Given the description of an element on the screen output the (x, y) to click on. 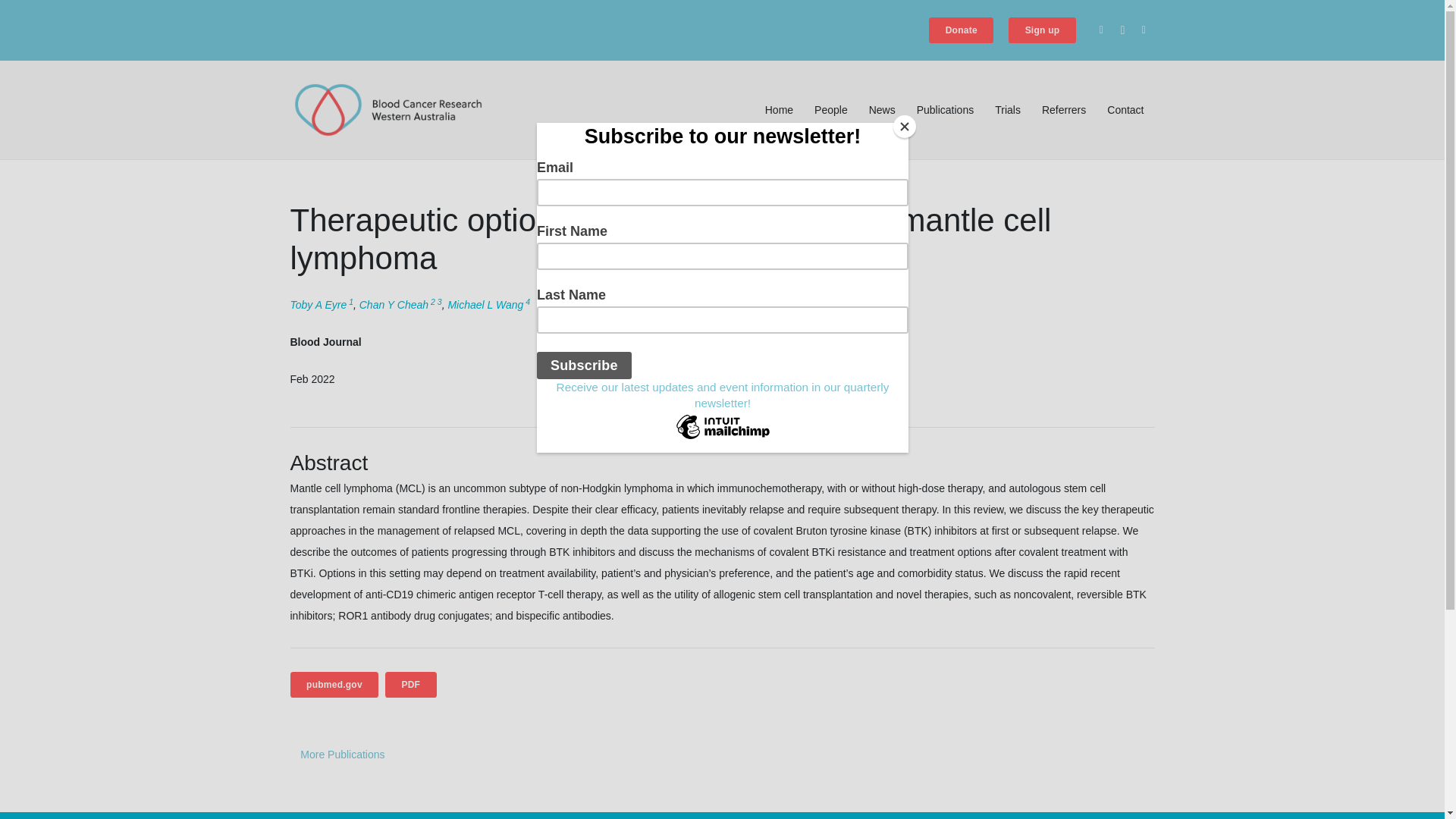
Chan Y Cheah (393, 304)
pubmed.gov (333, 684)
LinkedIn (1143, 29)
Michael L Wang (484, 304)
Sign up (1042, 30)
Facebook (1101, 29)
More Publications (341, 753)
PDF (410, 684)
Donate (960, 30)
Toby A Eyre (317, 304)
Instagram (1122, 29)
